Given the description of an element on the screen output the (x, y) to click on. 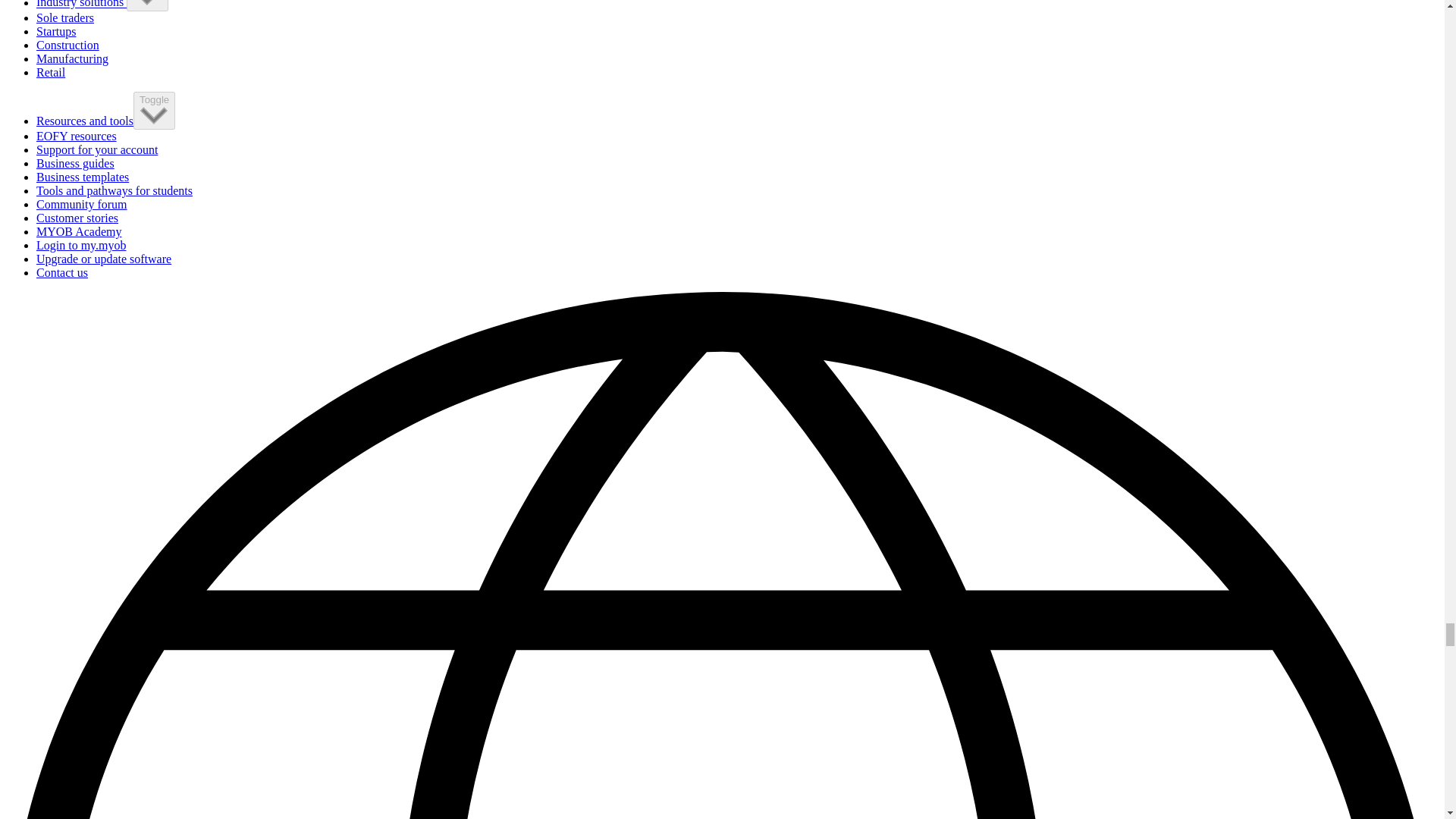
Chevron down (147, 3)
Chevron down (153, 115)
